Given the description of an element on the screen output the (x, y) to click on. 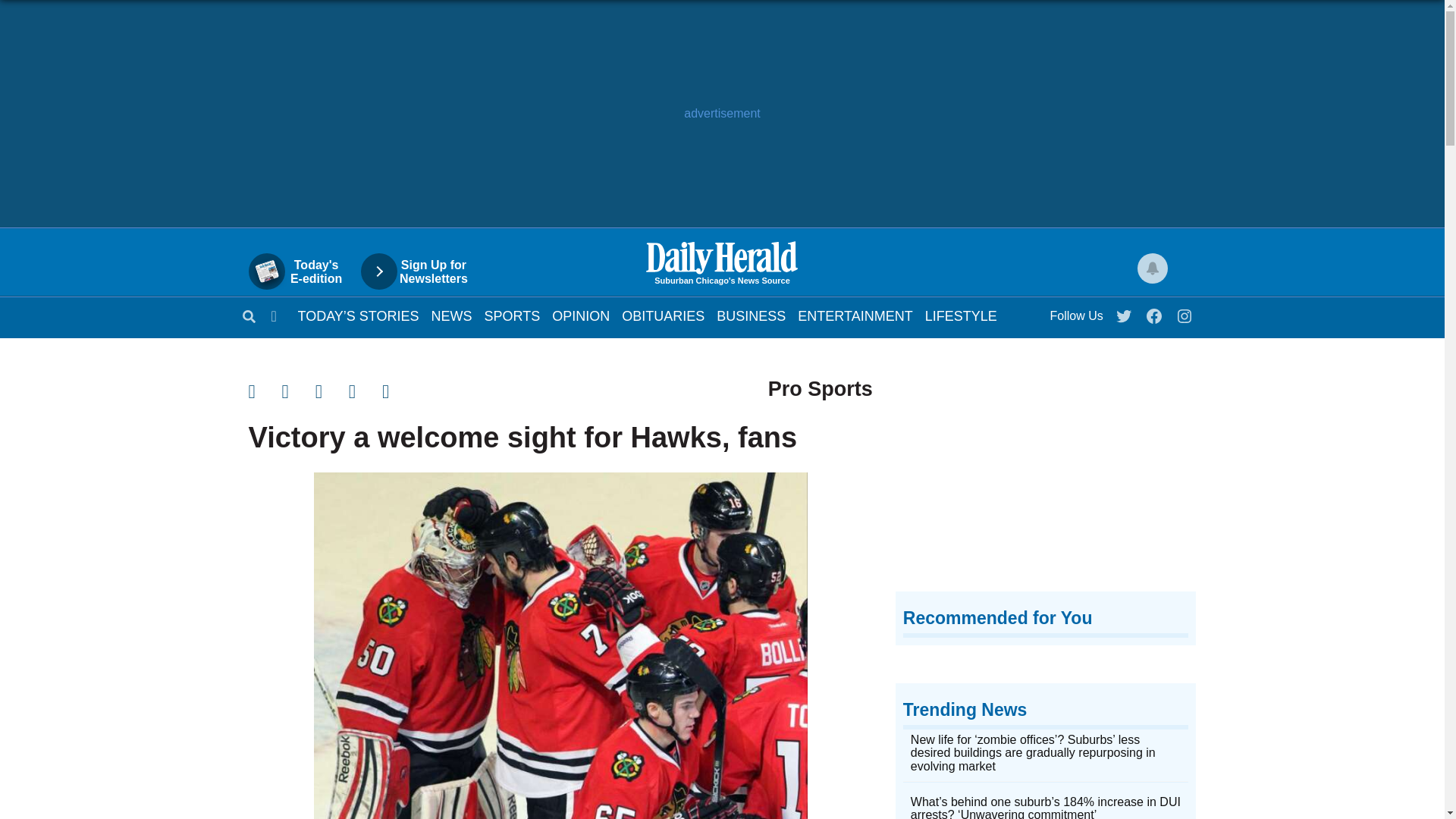
LIFESTYLE (960, 315)
Twitter (1124, 312)
NEWS (450, 315)
Instagram (1184, 312)
Entertainment (854, 315)
News (450, 315)
Opinion (580, 315)
ENTERTAINMENT (854, 315)
Today's Stories (358, 315)
Lifestyle (960, 315)
SPORTS (512, 315)
Facebook (1155, 312)
Sign Up for Newsletters (421, 271)
Business (303, 271)
